Given the description of an element on the screen output the (x, y) to click on. 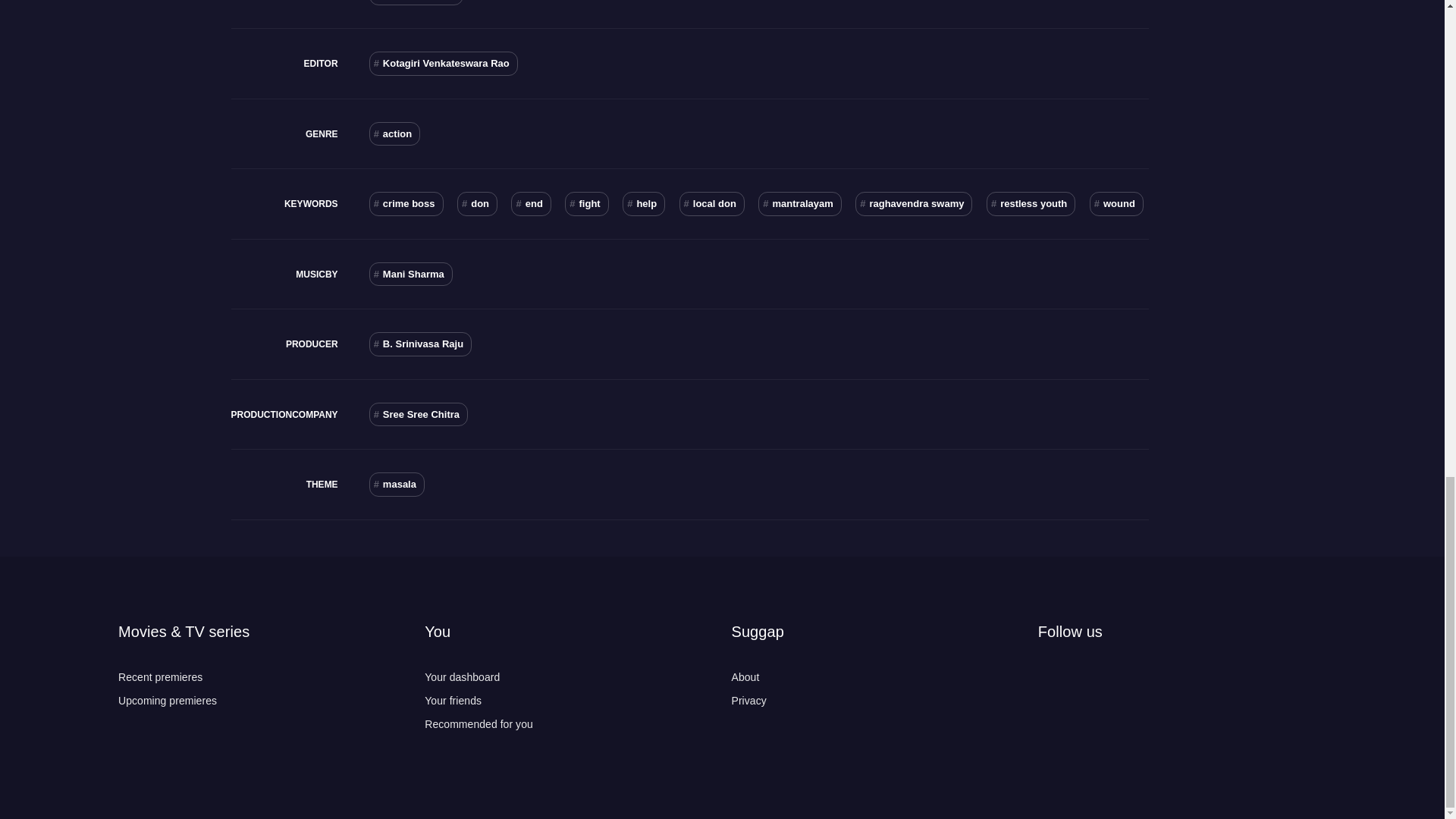
end (530, 203)
local don (711, 203)
Upcoming premieres (166, 700)
mantralayam (799, 203)
wound (1115, 203)
raghavendra swamy (914, 203)
don (477, 203)
B. Srinivasa Raju (420, 344)
action (394, 134)
help (644, 203)
